Given the description of an element on the screen output the (x, y) to click on. 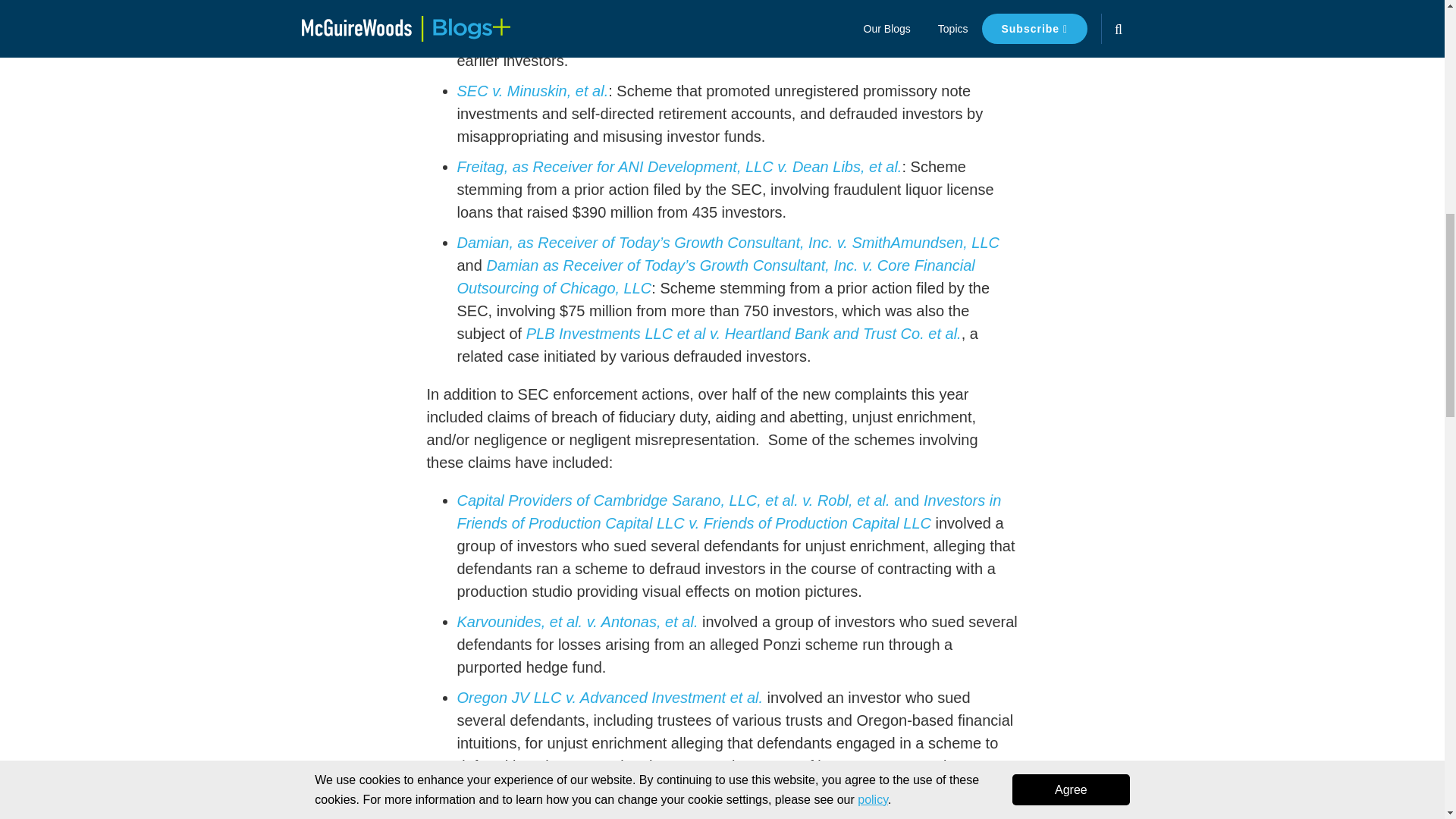
SEC v. Minuskin, et al. (532, 90)
Karvounides, et al. v. Antonas, et al. (577, 621)
yLoft LLC v. Bechtler, Parker, Watts, P.S.C. (600, 795)
Oregon JV LLC v. Advanced Investment et al. (609, 697)
